Given the description of an element on the screen output the (x, y) to click on. 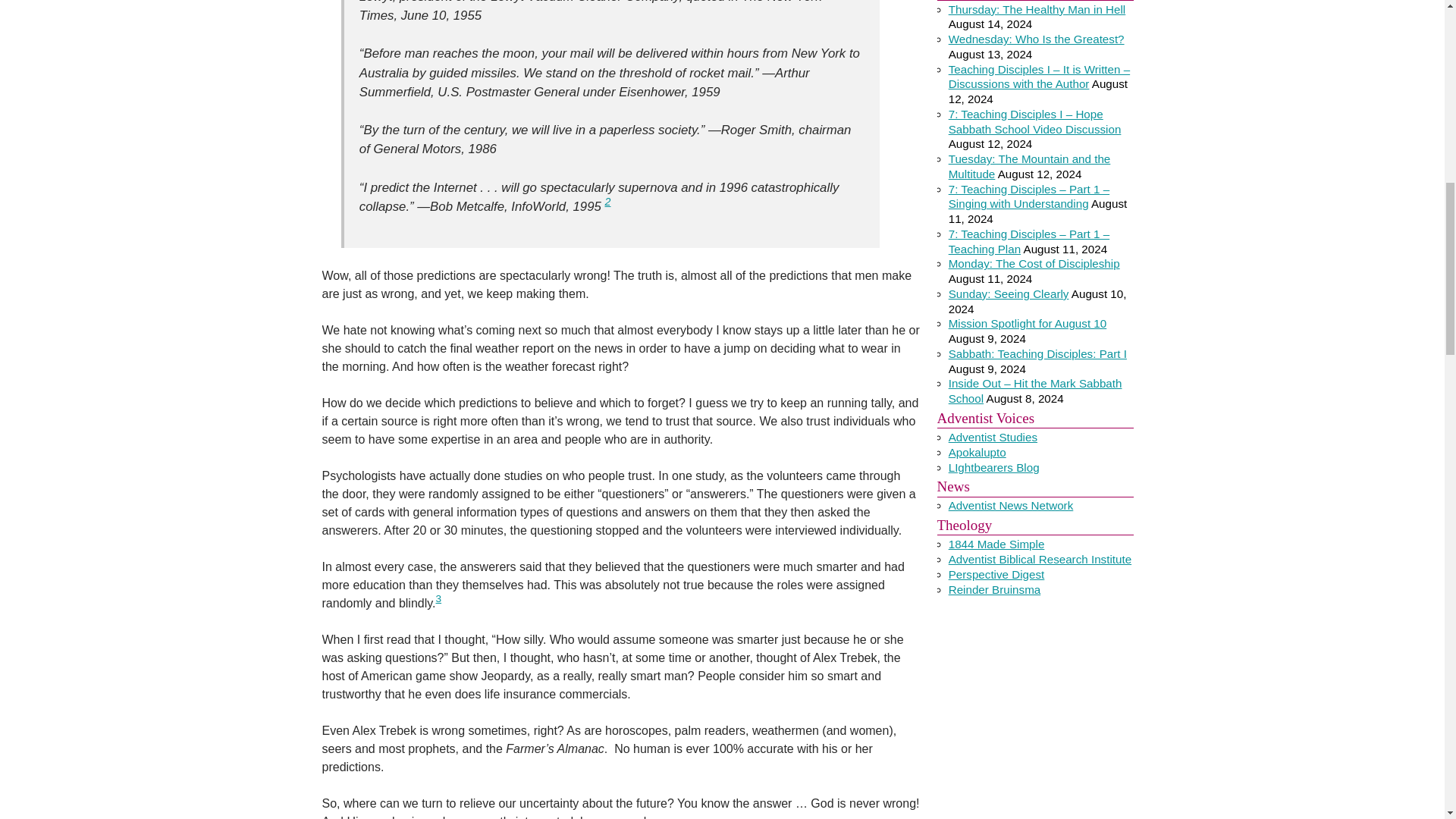
Publication of Adventist Theological Society (997, 574)
 David Hamstra blog (977, 451)
by Arthur Patrick of Avondale (992, 436)
Official Adventist News Network (1011, 504)
